Given the description of an element on the screen output the (x, y) to click on. 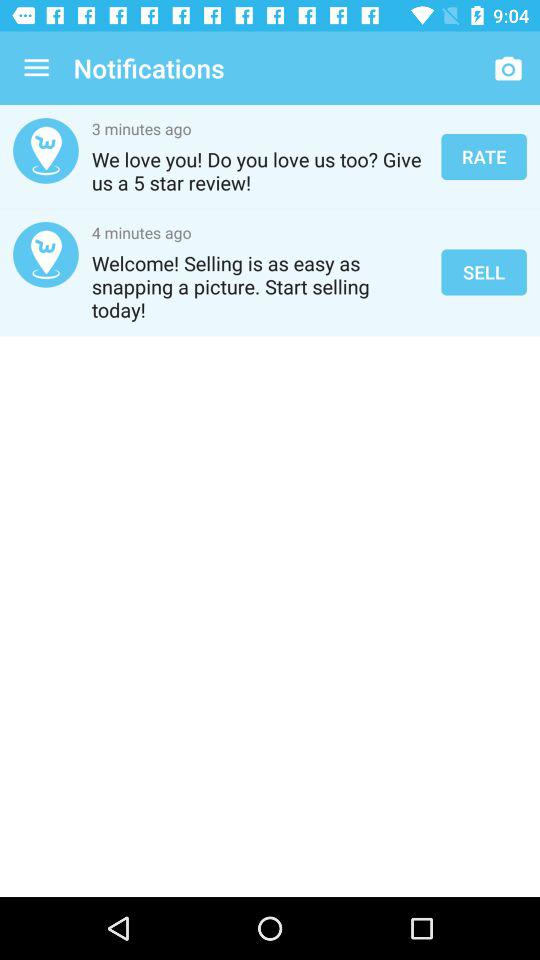
launch icon to the left of rate (259, 171)
